Given the description of an element on the screen output the (x, y) to click on. 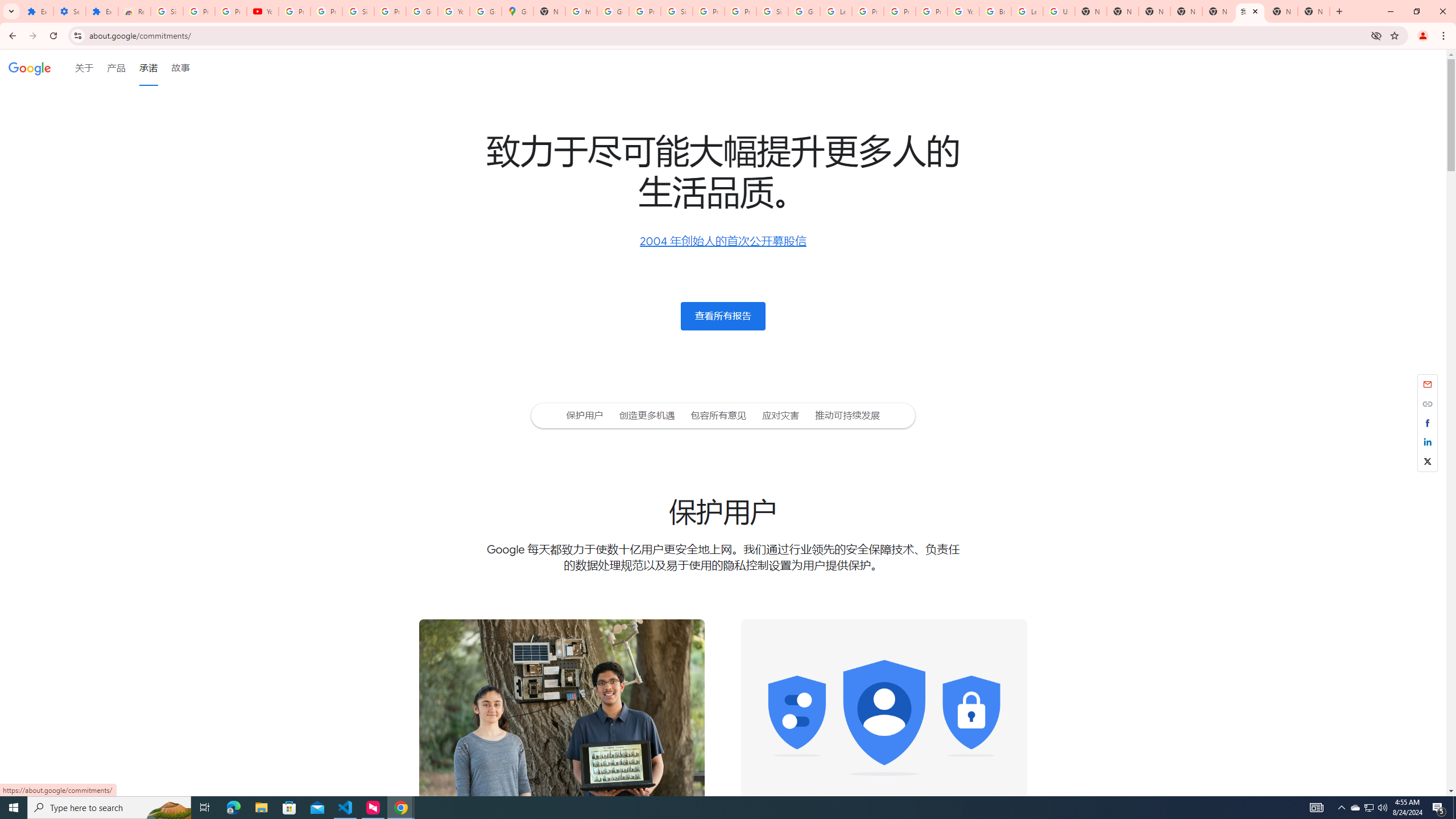
Google Account (421, 11)
Privacy Help Center - Policies Help (868, 11)
YouTube (262, 11)
